Given the description of an element on the screen output the (x, y) to click on. 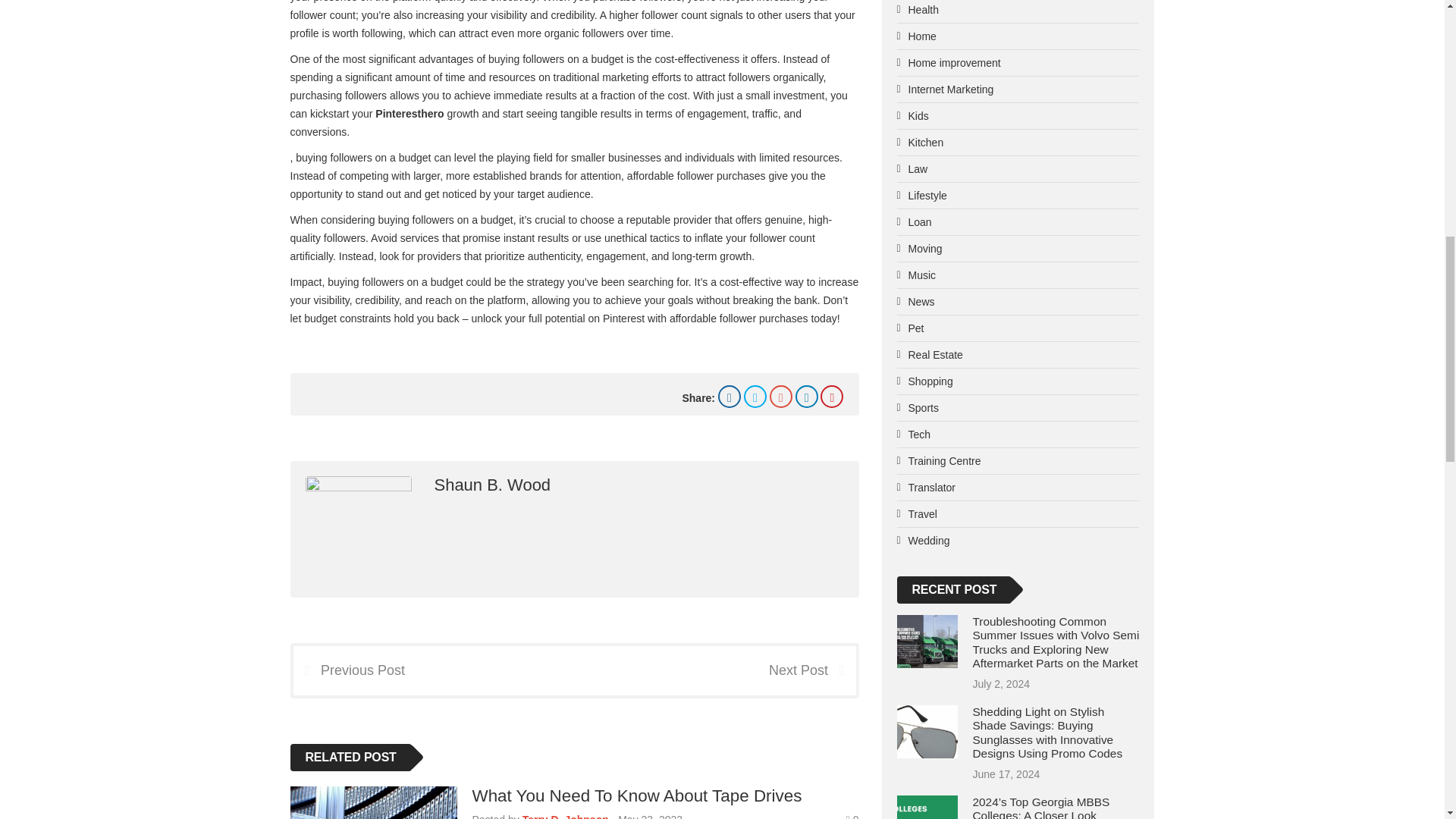
Previous Post (348, 670)
Next Post (812, 670)
Posts by Terry D. Johnson (565, 816)
Linkedin (806, 395)
Google Plus (781, 395)
Pinterest (832, 395)
Shaun B. Wood (491, 484)
Pinteresthero (409, 113)
Facebook (729, 395)
Twitter (755, 395)
